Given the description of an element on the screen output the (x, y) to click on. 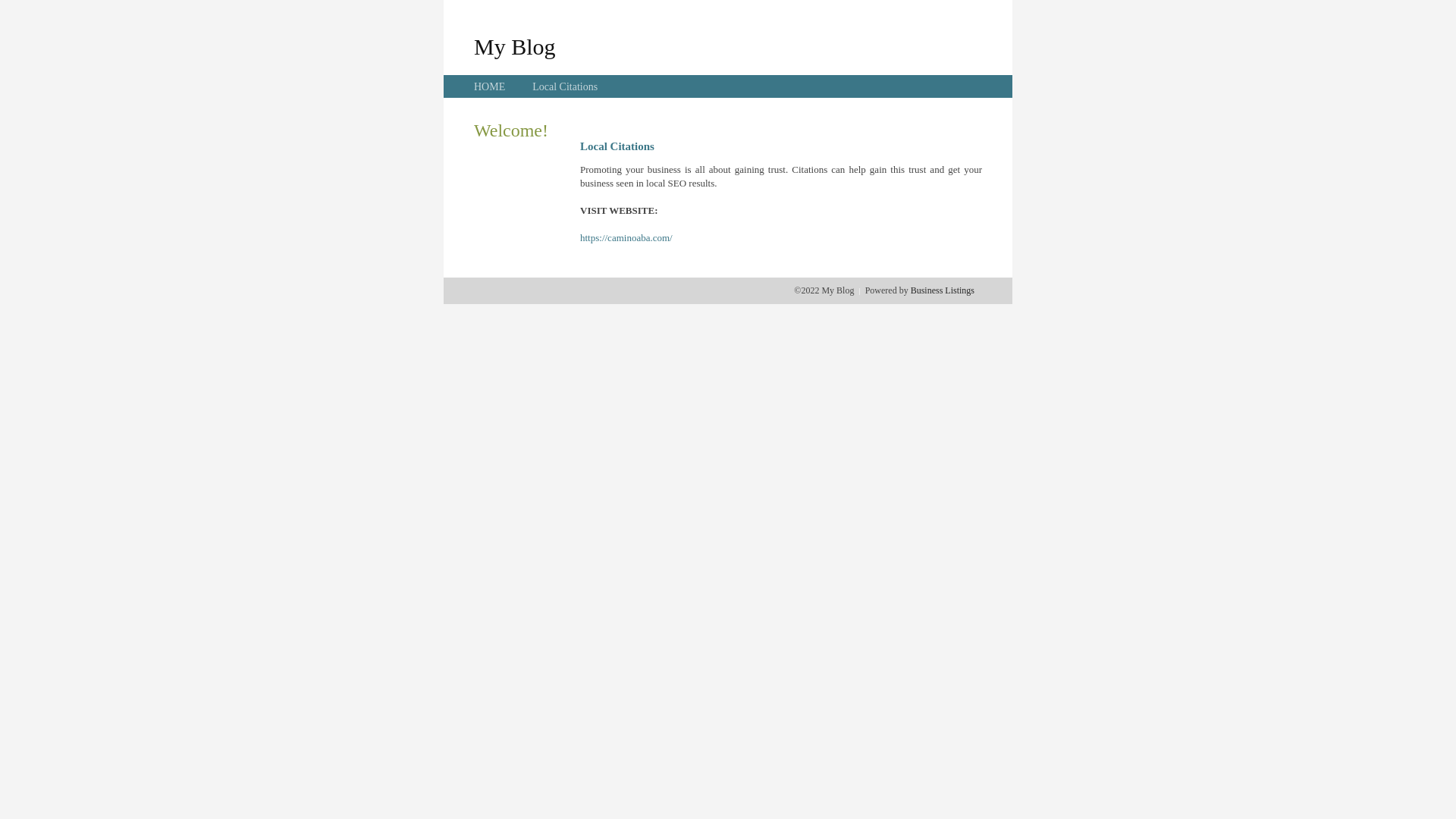
Business Listings Element type: text (942, 290)
HOME Element type: text (489, 86)
My Blog Element type: text (514, 46)
https://caminoaba.com/ Element type: text (626, 237)
Local Citations Element type: text (564, 86)
